Given the description of an element on the screen output the (x, y) to click on. 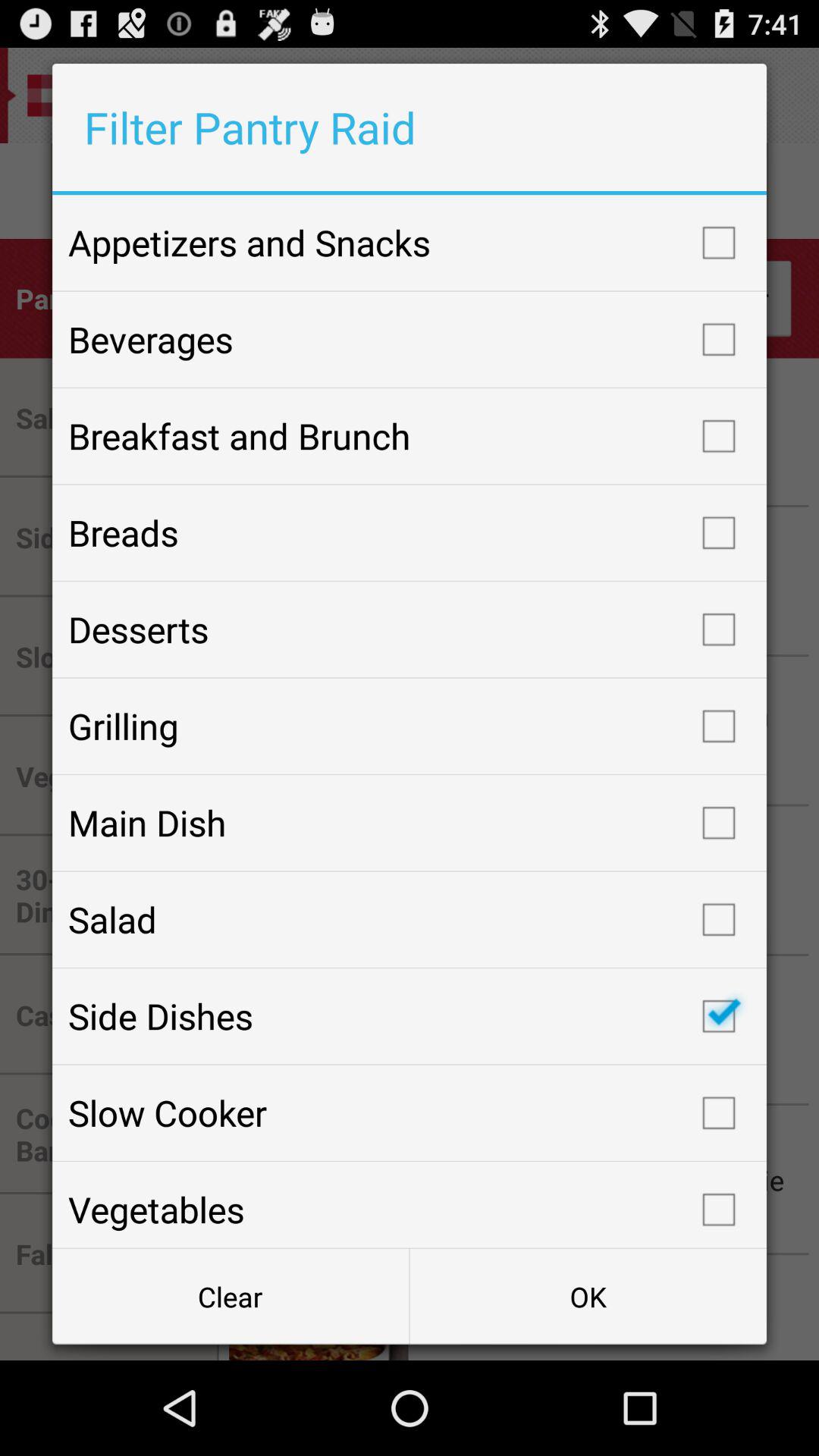
flip to appetizers and snacks icon (409, 242)
